Given the description of an element on the screen output the (x, y) to click on. 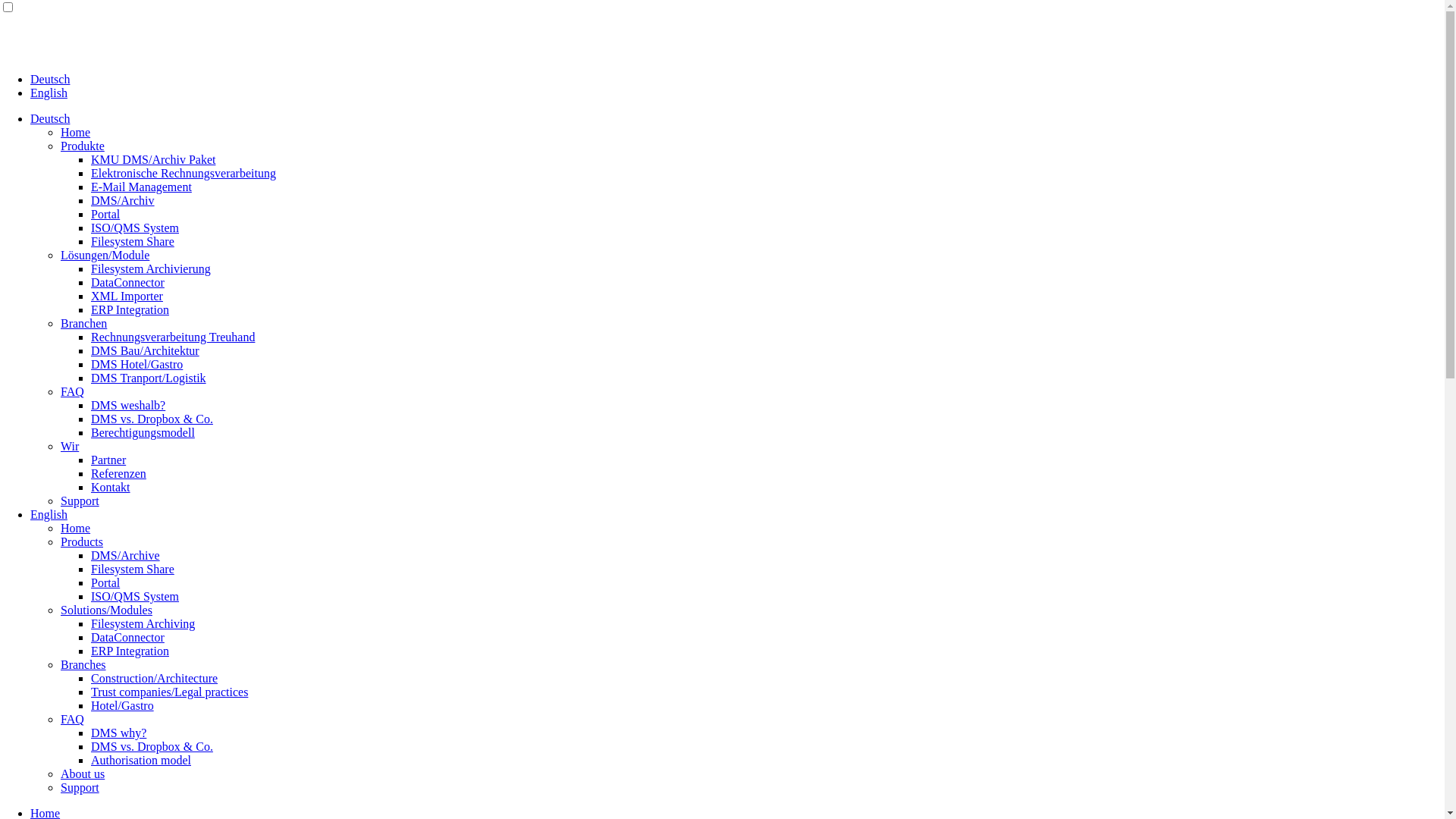
E-Mail Management Element type: text (141, 186)
DMS/Archive Element type: text (125, 555)
Home Element type: text (75, 527)
Filesystem Share Element type: text (132, 568)
KMU DMS/Archiv Paket Element type: text (153, 159)
Berechtigungsmodell Element type: text (142, 432)
Solutions/Modules Element type: text (106, 609)
Branchen Element type: text (83, 322)
DMS vs. Dropbox & Co. Element type: text (152, 746)
Support Element type: text (79, 787)
Wir Element type: text (69, 445)
Hotel/Gastro Element type: text (122, 705)
Portal Element type: text (105, 582)
Rechnungsverarbeitung Treuhand Element type: text (172, 336)
DMS weshalb? Element type: text (128, 404)
Produkte Element type: text (82, 145)
Products Element type: text (81, 541)
Branches Element type: text (83, 664)
DMS vs. Dropbox & Co. Element type: text (152, 418)
Referenzen Element type: text (118, 473)
ERP Integration Element type: text (130, 309)
FAQ Element type: text (72, 391)
Authorisation model Element type: text (141, 759)
Deutsch Element type: text (49, 78)
Portal Element type: text (105, 213)
About us Element type: text (82, 773)
DMS Hotel/Gastro Element type: text (136, 363)
DMS why? Element type: text (118, 732)
FAQ Element type: text (72, 718)
Home Element type: text (75, 131)
ISO/QMS System Element type: text (134, 595)
English Element type: text (48, 92)
DMS Bau/Architektur Element type: text (145, 350)
Filesystem Archivierung Element type: text (150, 268)
Elektronische Rechnungsverarbeitung Element type: text (183, 172)
Filesystem Share Element type: text (132, 241)
ISO/QMS System Element type: text (134, 227)
Kontakt Element type: text (110, 486)
DataConnector Element type: text (127, 282)
Construction/Architecture Element type: text (154, 677)
Trust companies/Legal practices Element type: text (169, 691)
English Element type: text (48, 514)
Partner Element type: text (108, 459)
Support Element type: text (79, 500)
ERP Integration Element type: text (130, 650)
XML Importer Element type: text (127, 295)
Filesystem Archiving Element type: text (142, 623)
Deutsch Element type: text (49, 118)
DMS/Archiv Element type: text (122, 200)
DataConnector Element type: text (127, 636)
DMS Tranport/Logistik Element type: text (148, 377)
